Given the description of an element on the screen output the (x, y) to click on. 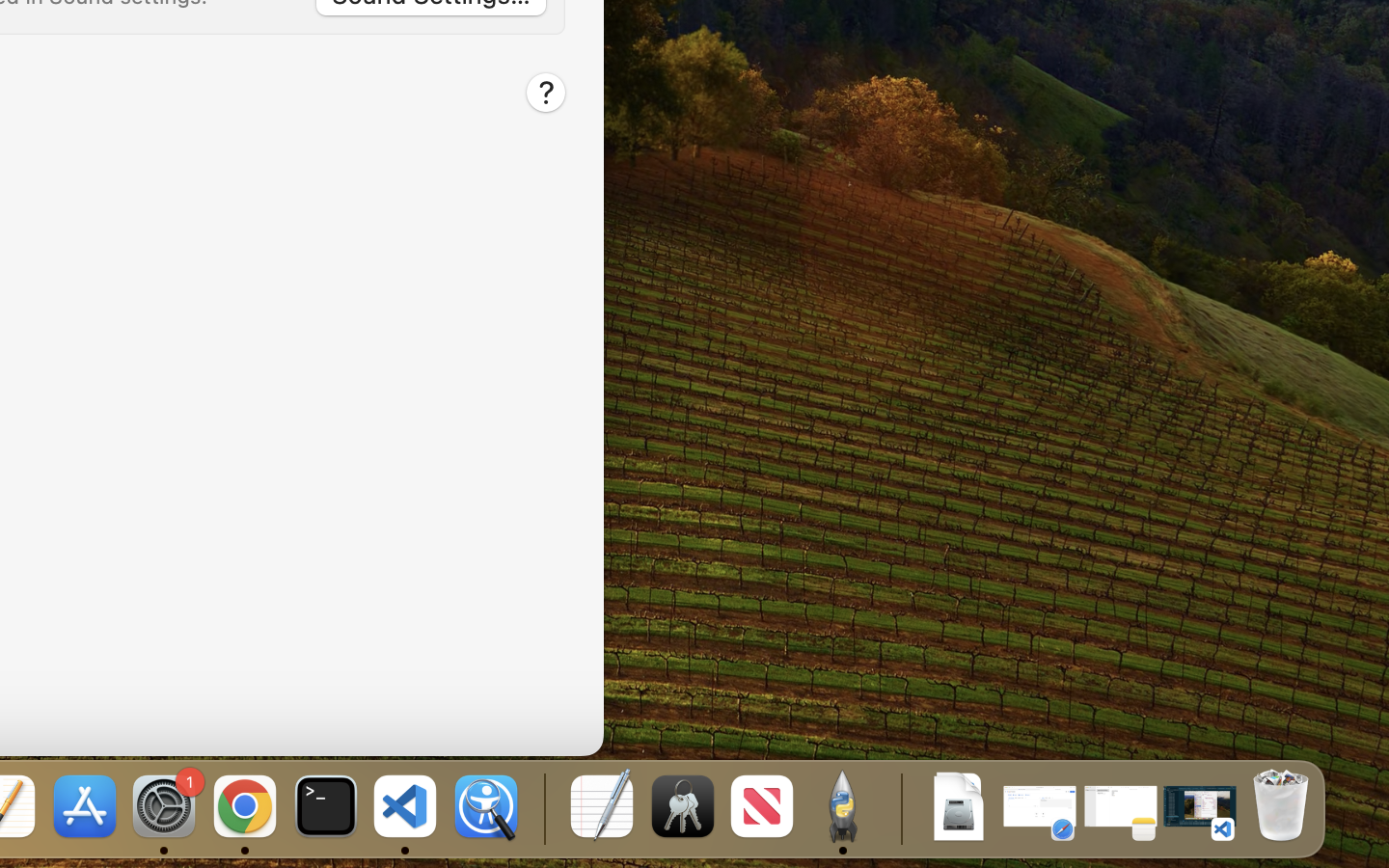
0.4285714328289032 Element type: AXDockItem (541, 807)
